Given the description of an element on the screen output the (x, y) to click on. 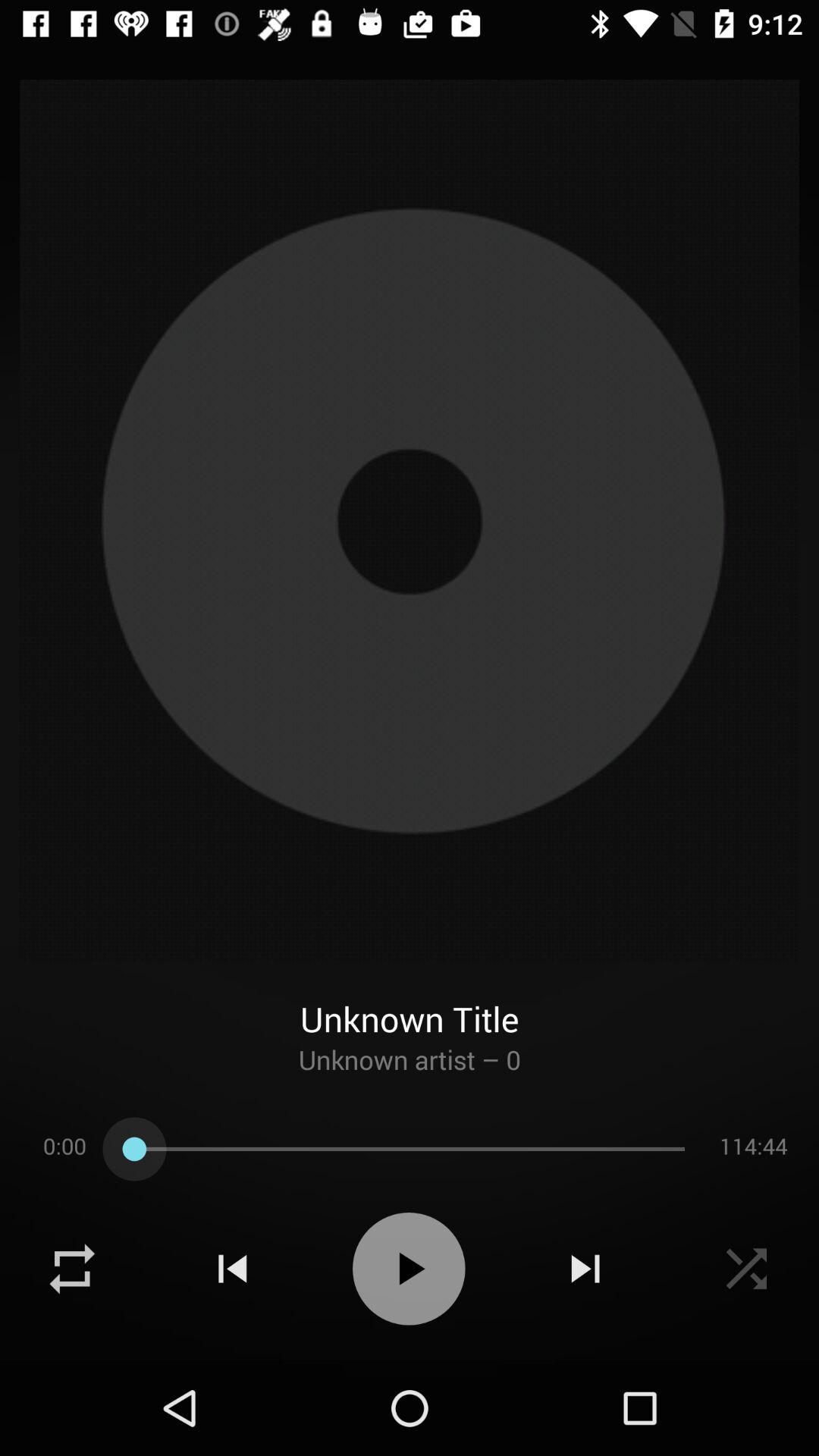
press the item at the center (409, 520)
